Given the description of an element on the screen output the (x, y) to click on. 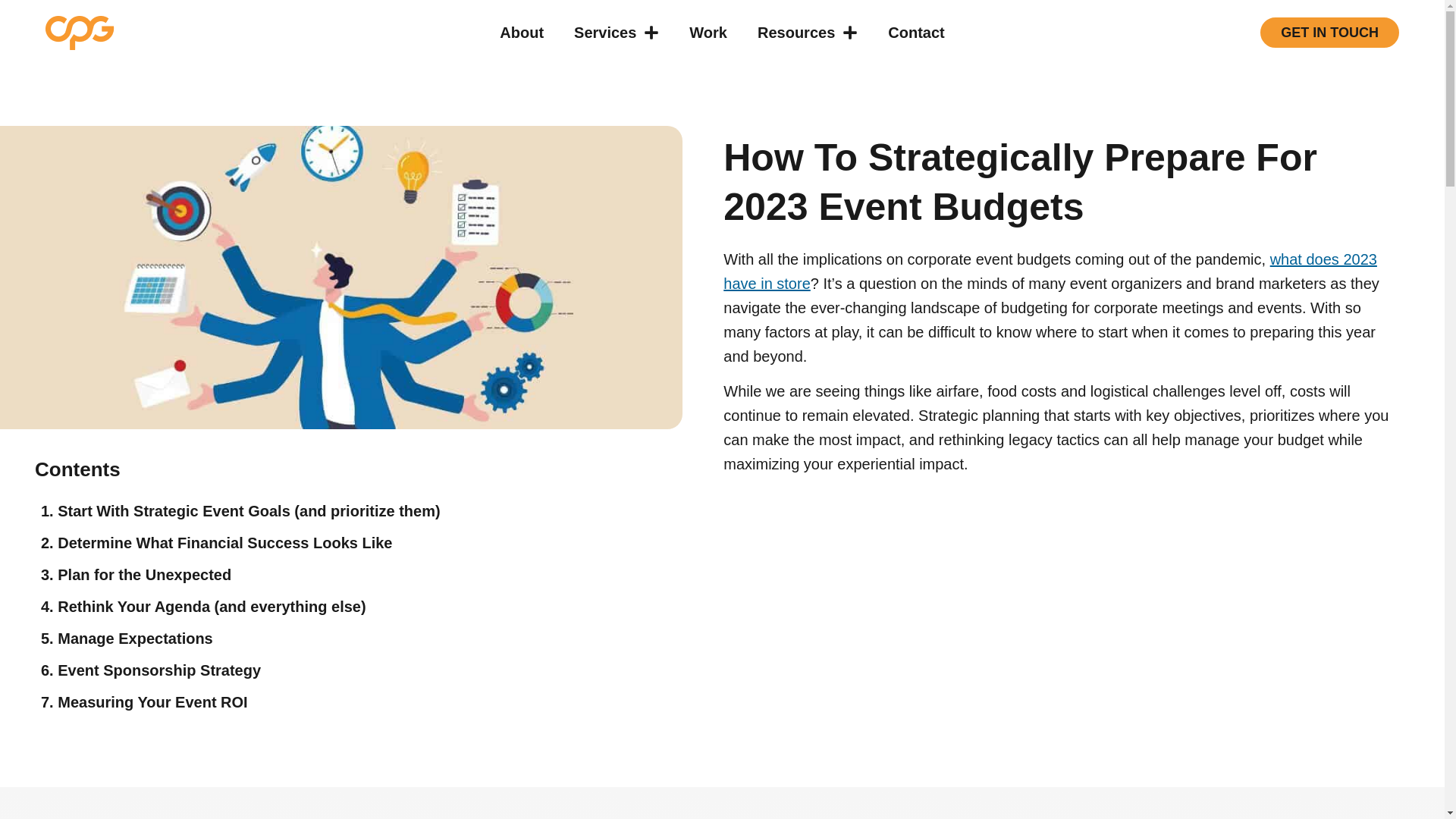
Services (616, 32)
Resources (807, 32)
GET IN TOUCH (1329, 32)
Contact (915, 32)
Work (708, 32)
About (521, 32)
